Given the description of an element on the screen output the (x, y) to click on. 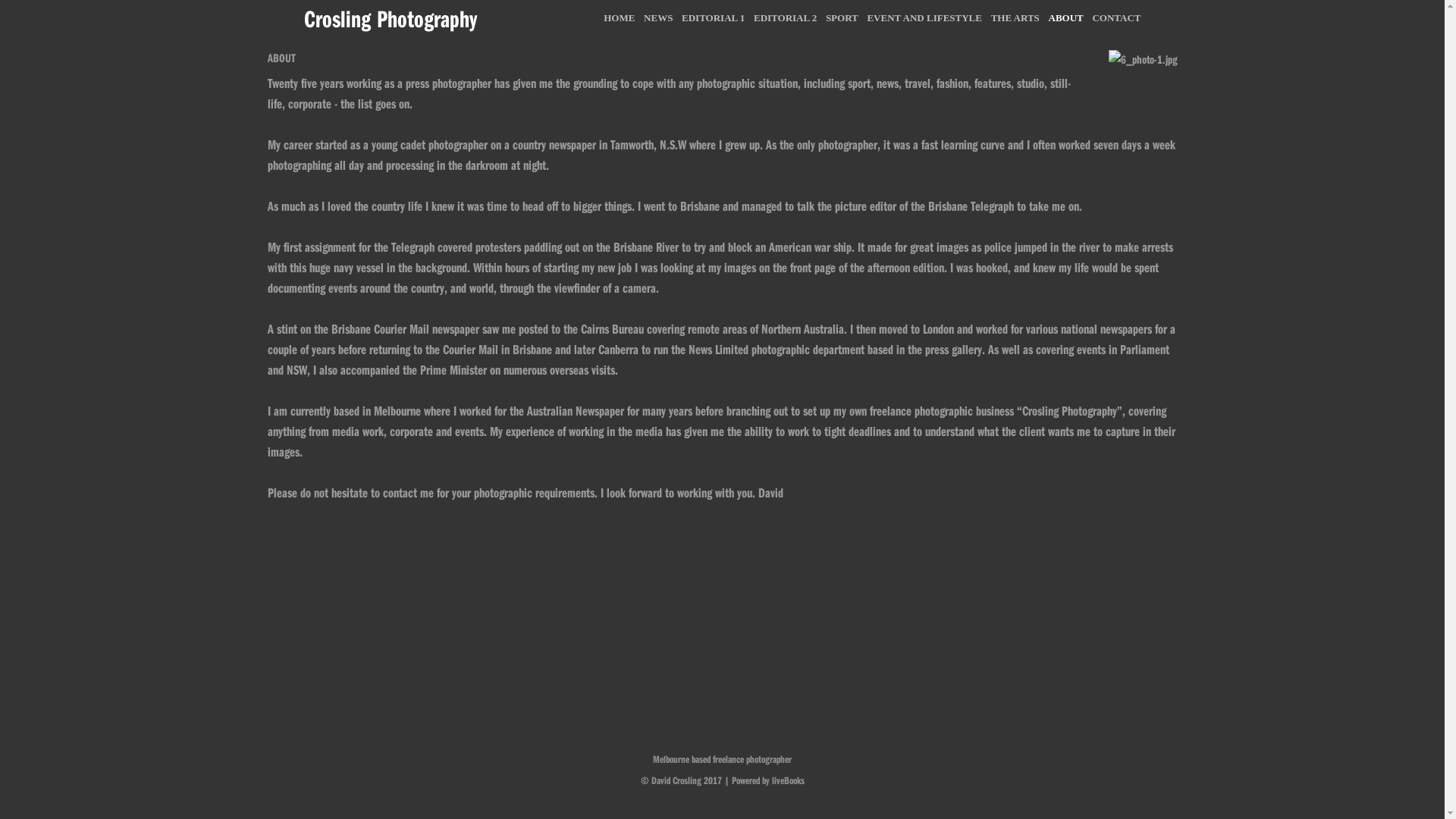
CONTACT Element type: text (1116, 18)
EDITORIAL 1 Element type: text (712, 18)
EDITORIAL 2 Element type: text (784, 18)
NEWS Element type: text (657, 18)
Crosling Photography Element type: text (389, 18)
ABOUT Element type: text (1065, 18)
THE ARTS Element type: text (1015, 18)
liveBooks Element type: text (787, 780)
SPORT Element type: text (841, 18)
HOME Element type: text (618, 18)
EVENT AND LIFESTYLE Element type: text (923, 18)
